Given the description of an element on the screen output the (x, y) to click on. 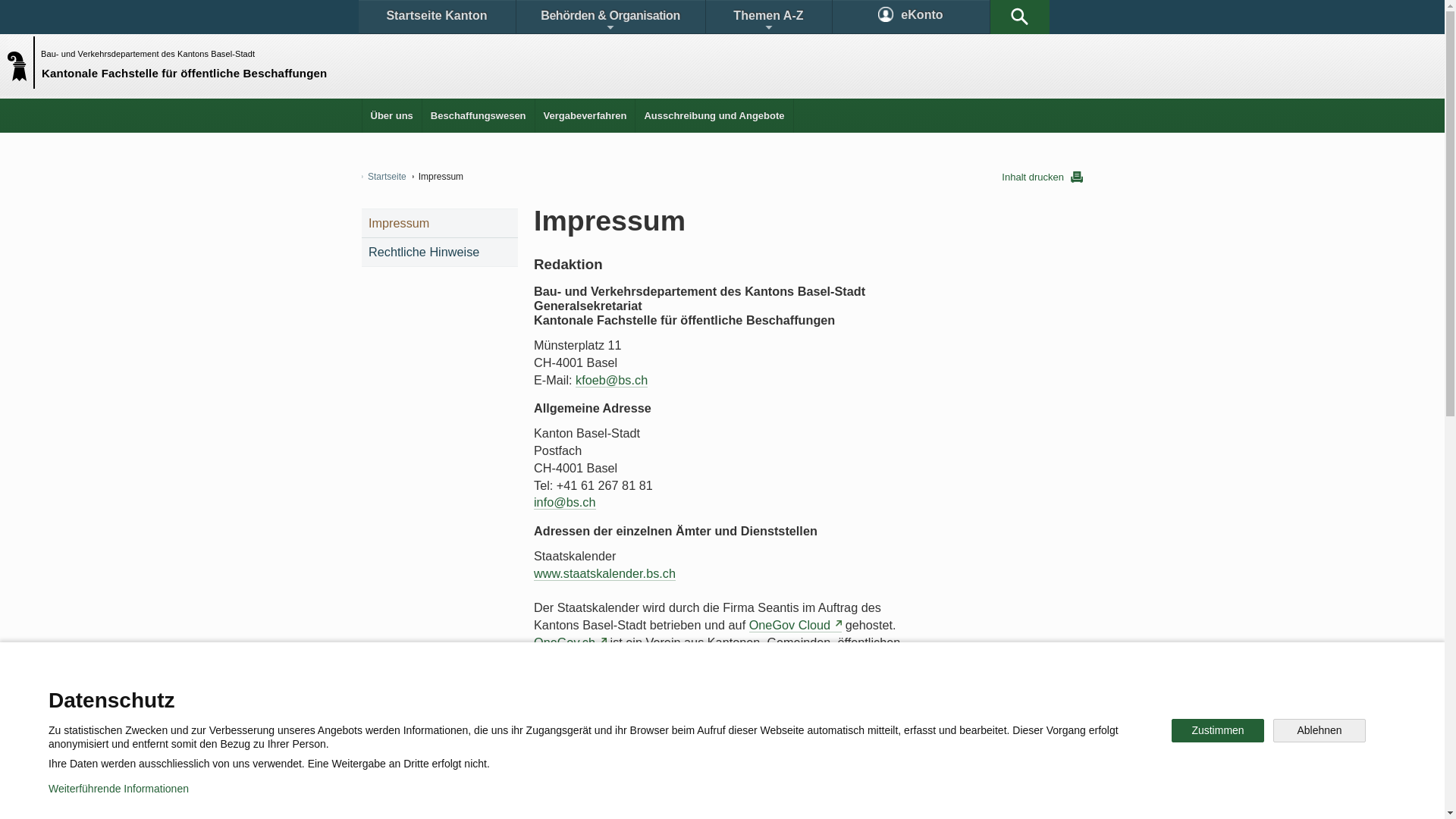
Stadtplan & Karte Element type: text (504, 693)
Themen A-Z Element type: text (768, 17)
info@bs.ch Element type: text (564, 502)
Startseite Kanton Element type: text (435, 17)
Kontakt Element type: text (406, 693)
www.itbs.bs.ch Element type: text (574, 730)
Xing Element type: text (924, 746)
OneGov.ch Element type: text (569, 642)
Inhalt drucken Element type: text (1041, 176)
Ausschreibung und Angebote Element type: text (713, 115)
OneGov Cloud Element type: text (795, 625)
www.staatskalender.bs.ch Element type: text (604, 573)
www.zeix.com Element type: text (578, 801)
Zur mobilen Ansicht Element type: text (752, 796)
Startseite Element type: text (383, 176)
Publikationen Element type: text (795, 693)
kfoeb@bs.ch Element type: text (611, 380)
eKonto Element type: text (910, 17)
Zustimmen Element type: text (1217, 730)
LinkedIn Element type: text (839, 746)
Rechtliche Hinweise Element type: text (439, 252)
Beschaffungswesen Element type: text (478, 115)
Facebook Element type: text (547, 746)
Ablehnen Element type: text (1319, 730)
Statistiken Element type: text (687, 693)
Bild & Multimedia Element type: text (908, 693)
Impressum Element type: text (648, 796)
Instagram Element type: text (738, 746)
Nutzungsregelungen Element type: text (542, 796)
Gesetze Element type: text (597, 693)
Twitter Element type: text (642, 746)
Vergabeverfahren Element type: text (585, 115)
